Given the description of an element on the screen output the (x, y) to click on. 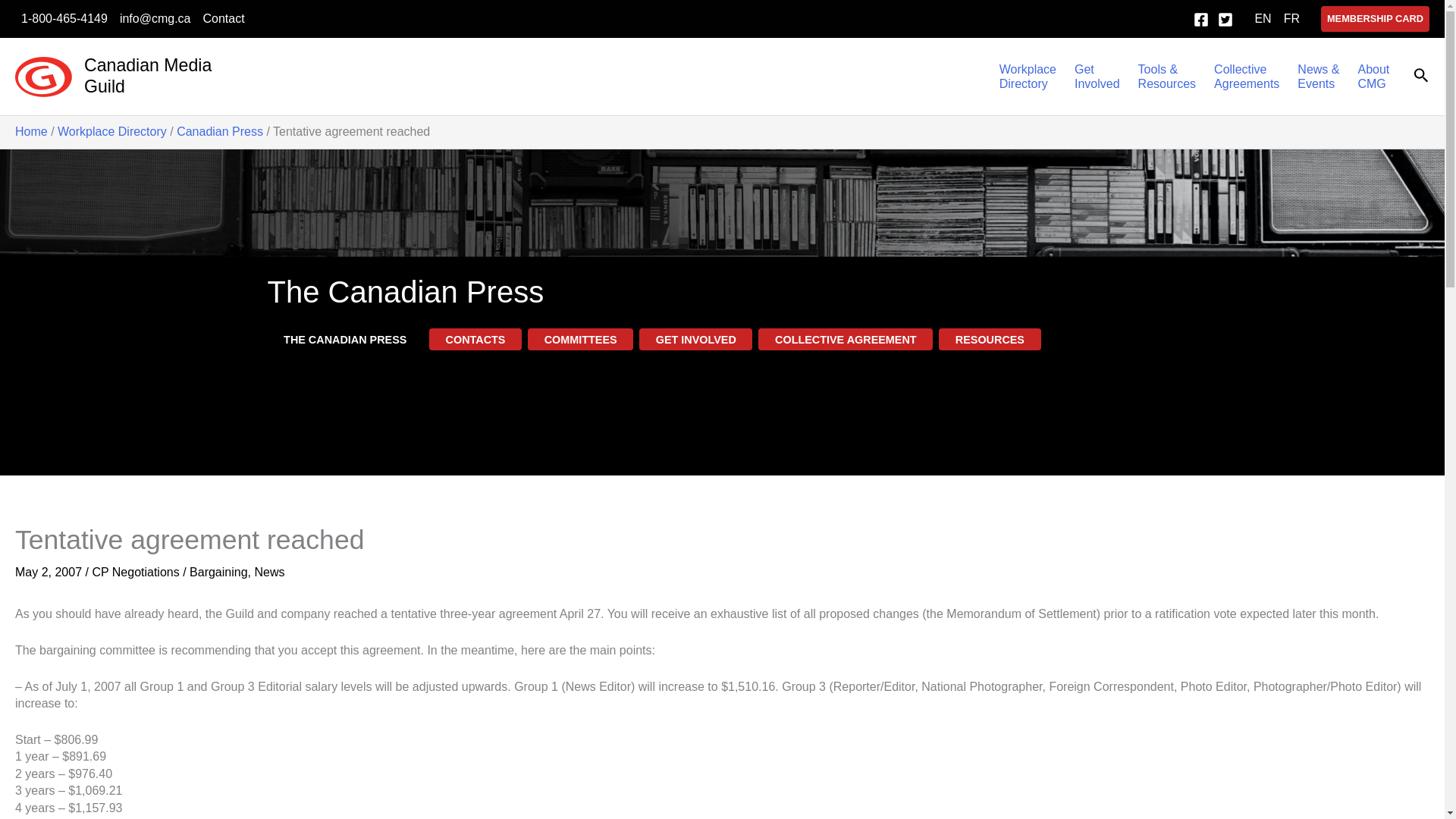
Contact (223, 18)
1-800-465-4149 (63, 18)
MEMBERSHIP CARD (1374, 18)
Canadian Media Guild (1027, 76)
